Given the description of an element on the screen output the (x, y) to click on. 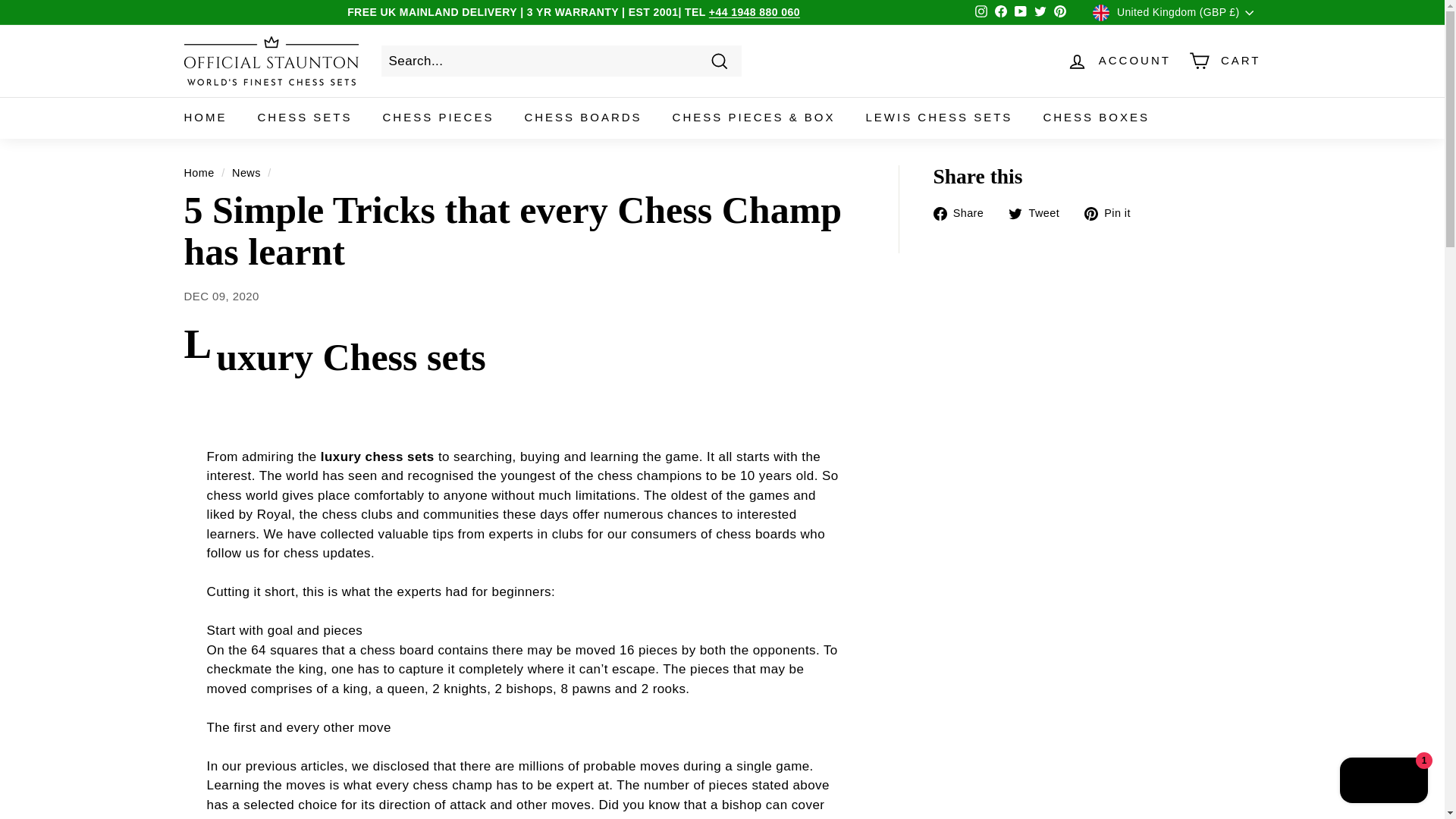
Tweet on Twitter (1039, 212)
Twitter (1039, 12)
Instagram (981, 12)
Official Staunton on Pinterest (1059, 12)
Share on Facebook (963, 212)
Pin on Pinterest (1112, 212)
Official Staunton on Facebook (1000, 12)
Back to the frontpage (198, 173)
Pinterest (1059, 12)
YouTube (1020, 12)
Official Staunton on Instagram (981, 12)
Official Staunton on YouTube (1020, 12)
Official Staunton on Twitter (1039, 12)
Facebook (1000, 12)
